Given the description of an element on the screen output the (x, y) to click on. 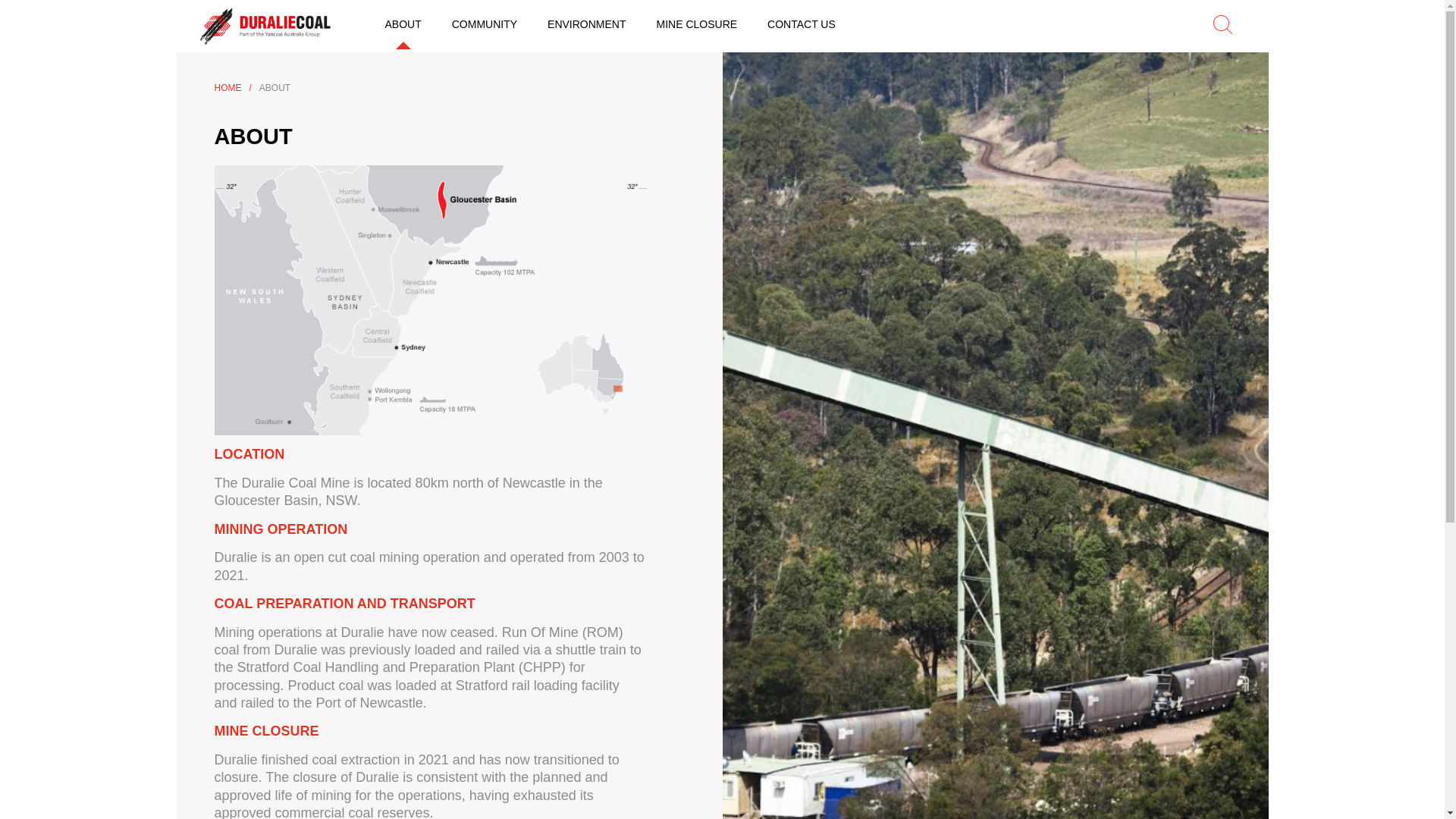
ABOUT (402, 24)
DURALIECOAL (267, 26)
